Given the description of an element on the screen output the (x, y) to click on. 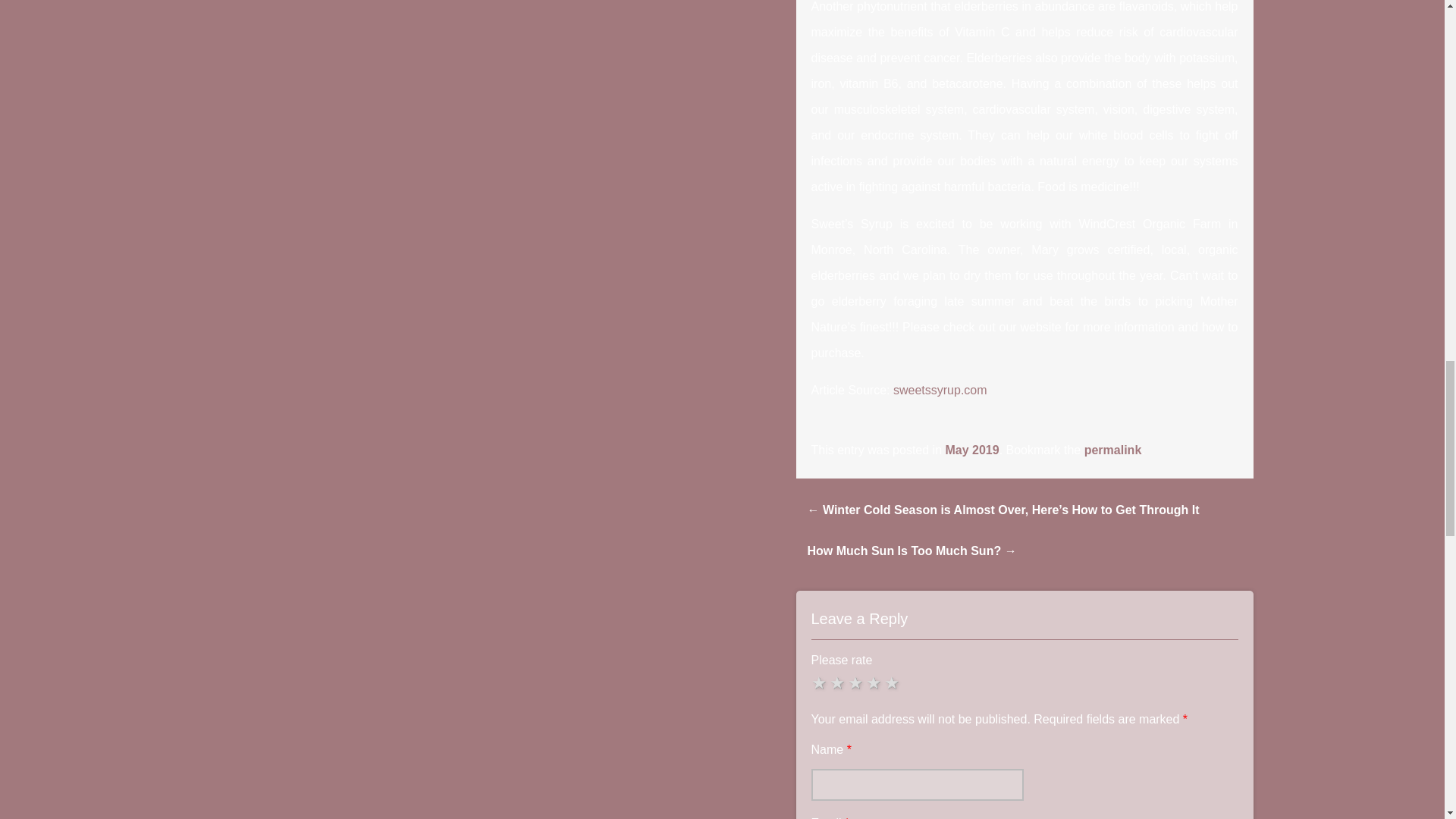
Very bad (819, 682)
Pretty good (874, 682)
Kinda bad (838, 682)
May 2019 (971, 449)
sweetssyrup.com (940, 390)
permalink (1112, 449)
Rocks! (892, 682)
Meh (856, 682)
